Given the description of an element on the screen output the (x, y) to click on. 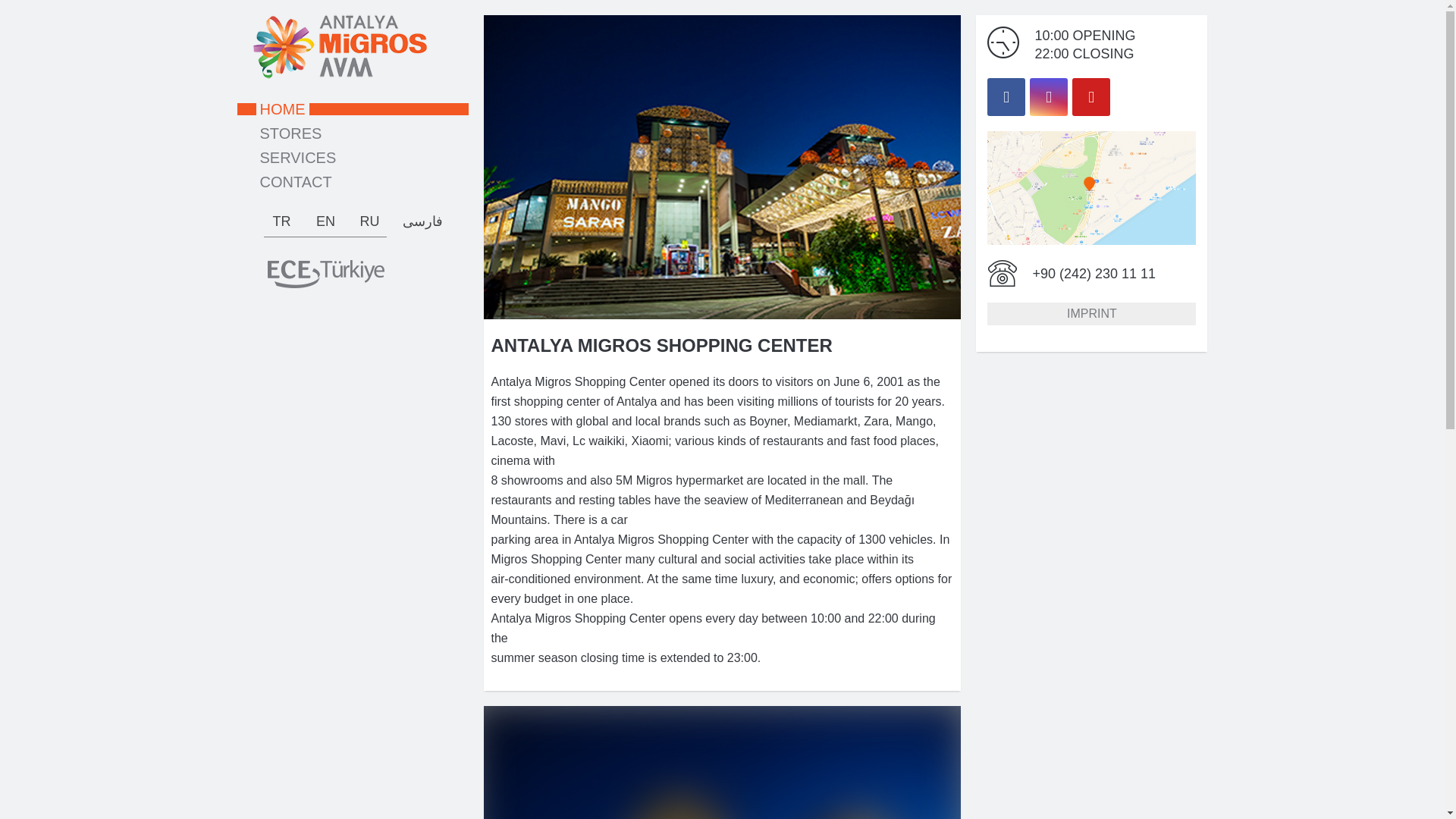
SERVICES (351, 158)
HOME (351, 109)
TR (281, 220)
CONTACT (351, 182)
IMPRINT (1091, 313)
EN (325, 220)
STORES (351, 134)
RU (370, 220)
